Given the description of an element on the screen output the (x, y) to click on. 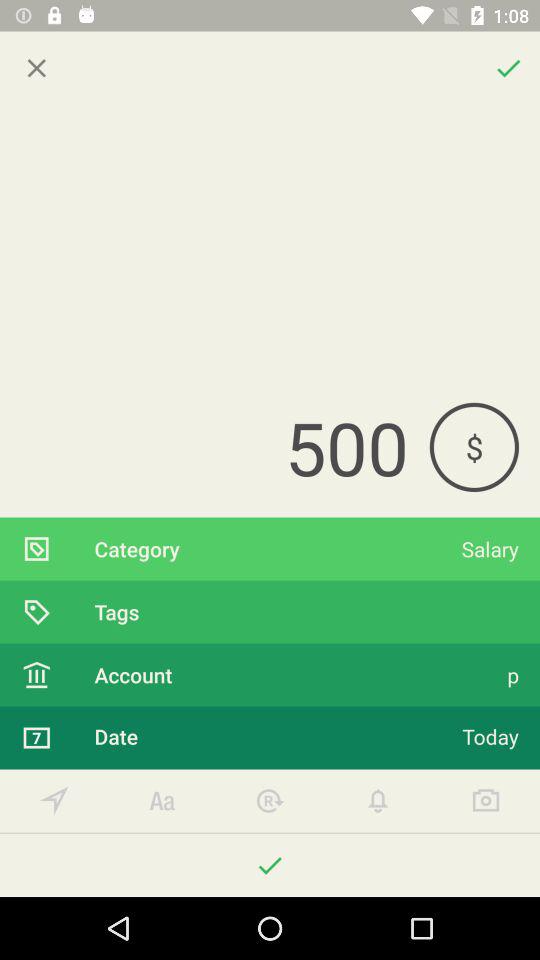
turn on notifications for credit account (378, 800)
